Given the description of an element on the screen output the (x, y) to click on. 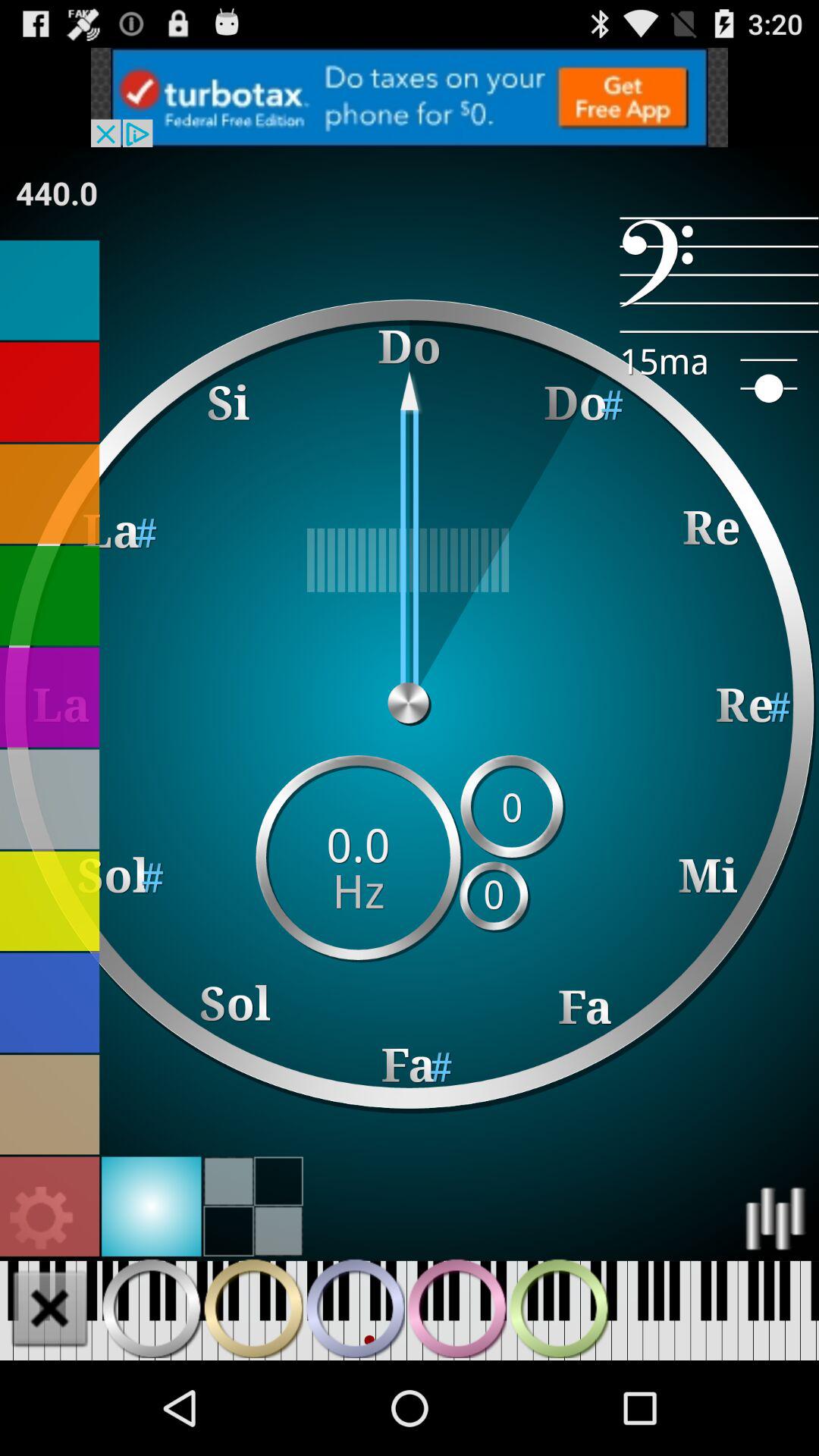
yellow color palette (49, 900)
